Given the description of an element on the screen output the (x, y) to click on. 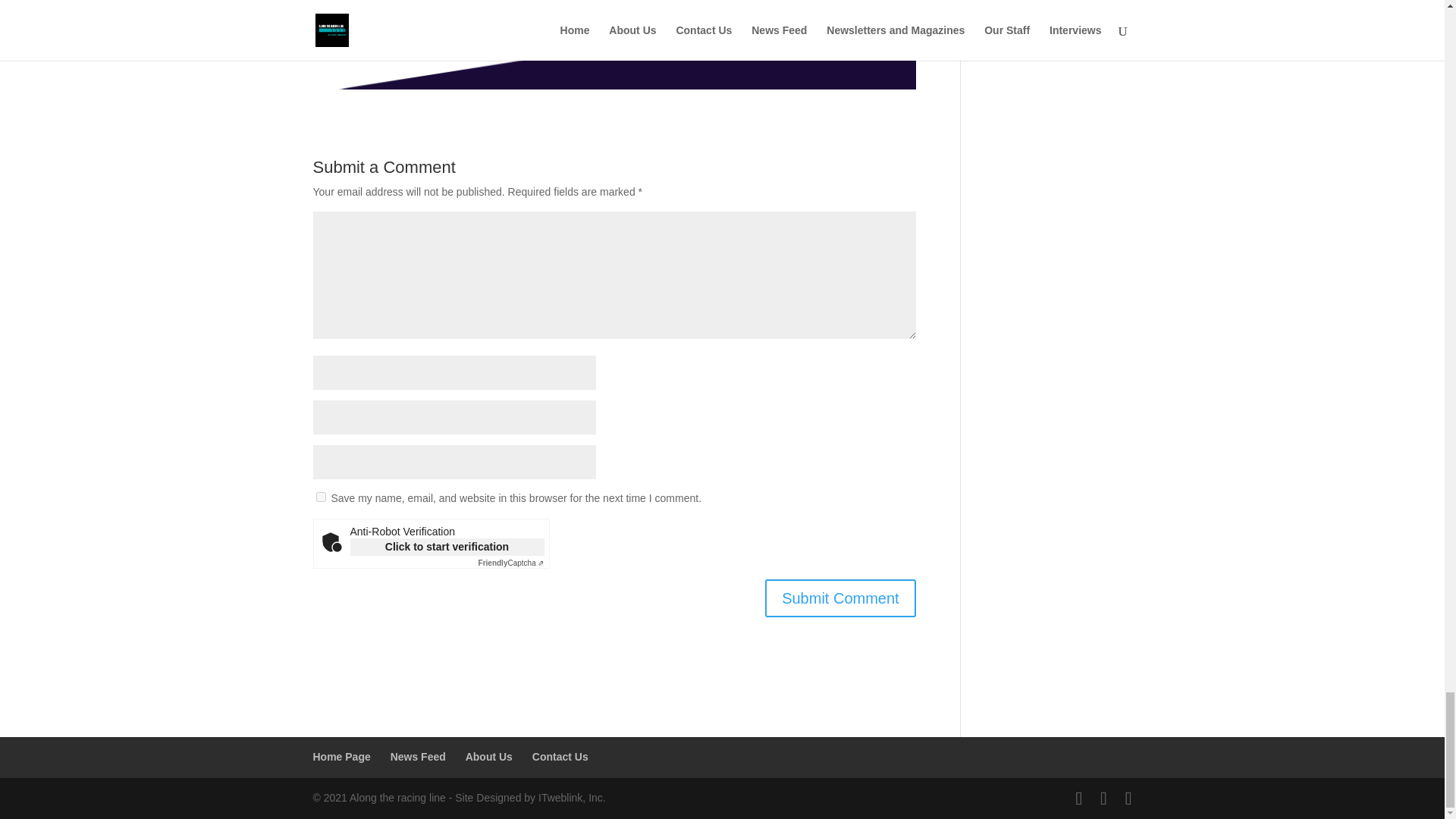
Click to start verification (447, 547)
Submit Comment (840, 598)
yes (319, 497)
Submit Comment (840, 598)
